Given the description of an element on the screen output the (x, y) to click on. 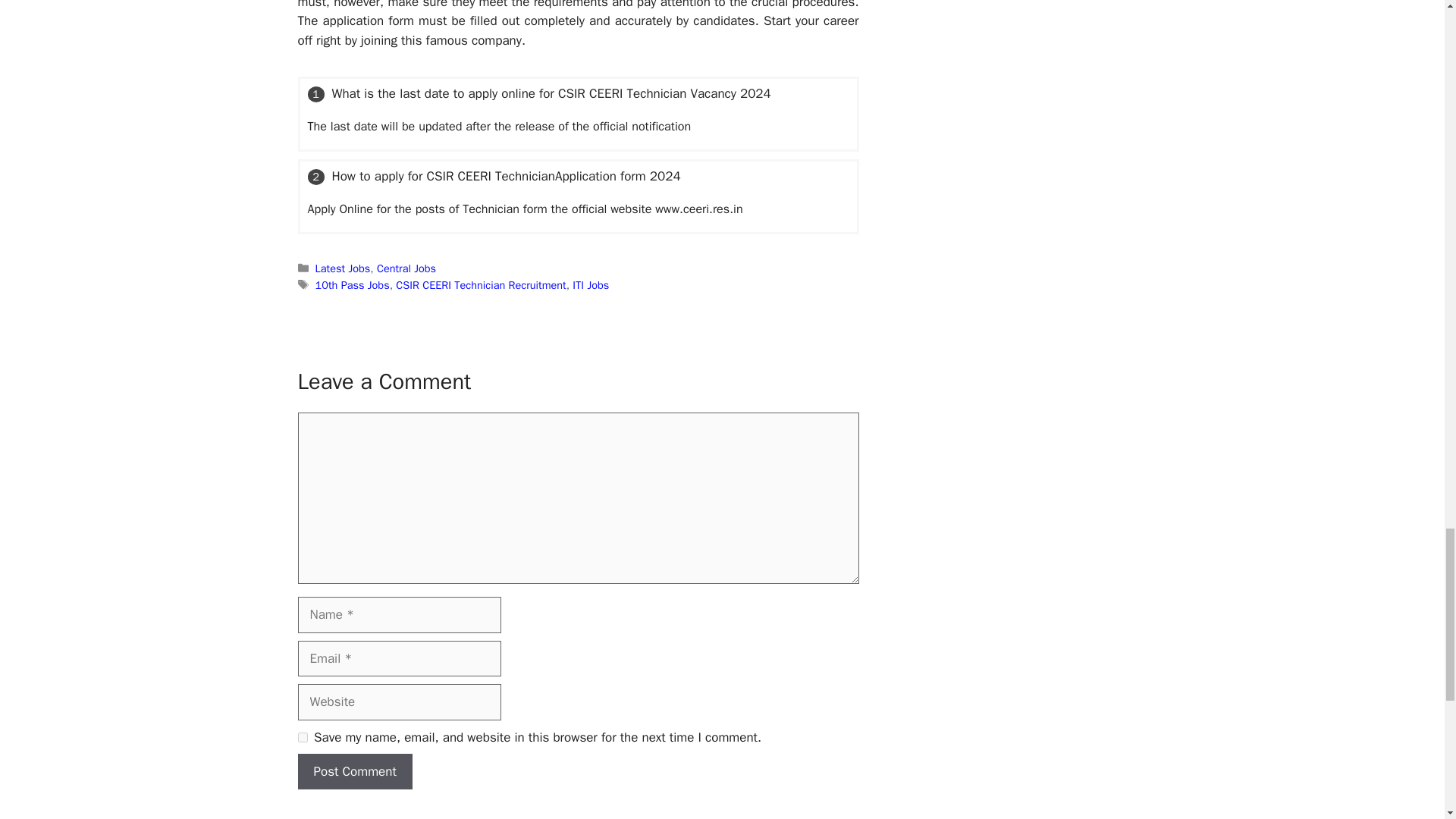
Post Comment (354, 771)
Central Jobs (406, 268)
yes (302, 737)
10th Pass Jobs (352, 284)
CSIR CEERI Technician Recruitment (481, 284)
Latest Jobs (343, 268)
ITI Jobs (590, 284)
